Given the description of an element on the screen output the (x, y) to click on. 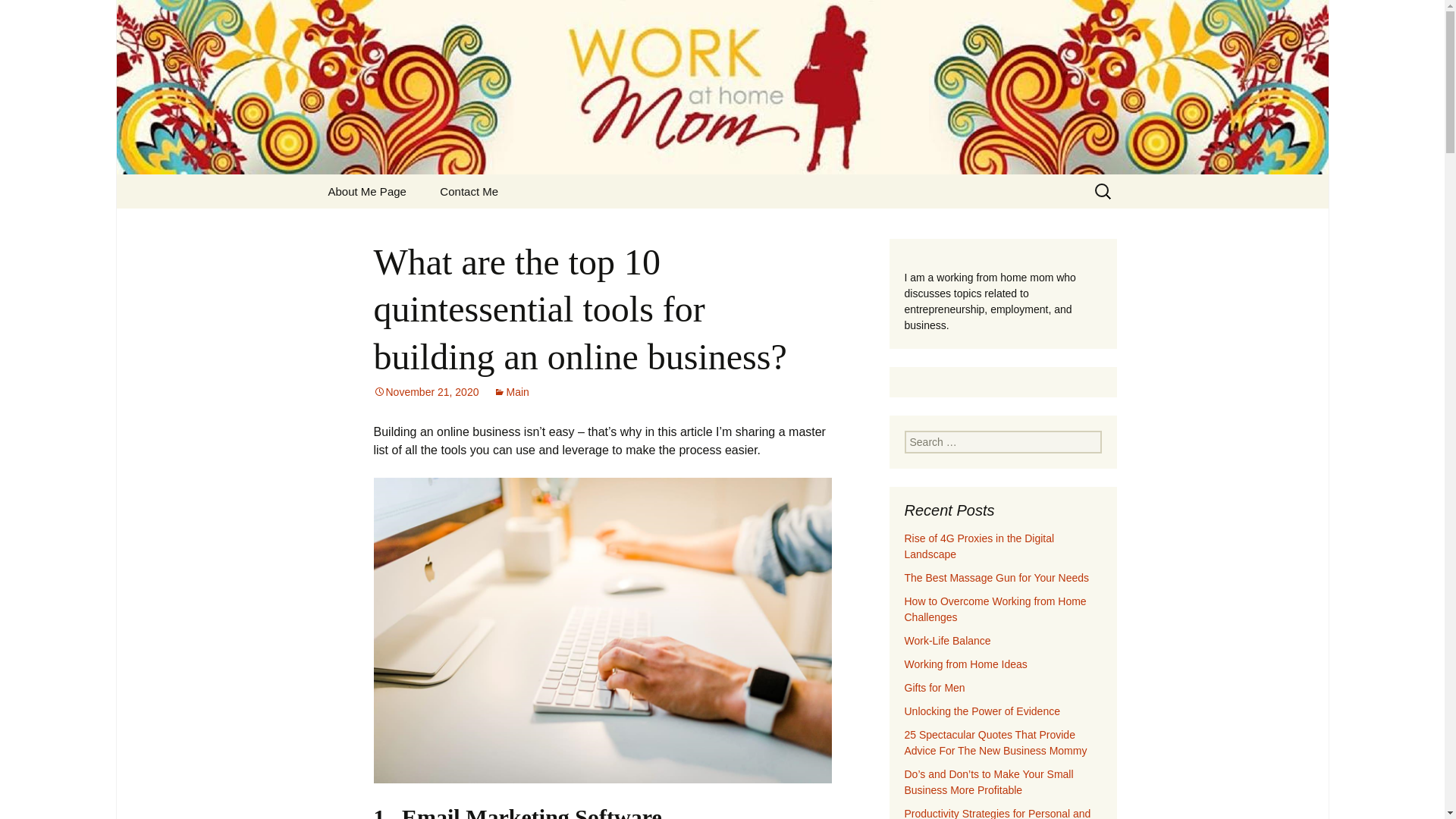
Gifts for Men (933, 687)
Work-Life Balance (947, 640)
Main (510, 391)
The Best Massage Gun for Your Needs (996, 577)
Unlocking the Power of Evidence (981, 711)
November 21, 2020 (425, 391)
Search (18, 15)
Rise of 4G Proxies in the Digital Landscape (34, 15)
How to Overcome Working from Home Challenges (979, 546)
